Given the description of an element on the screen output the (x, y) to click on. 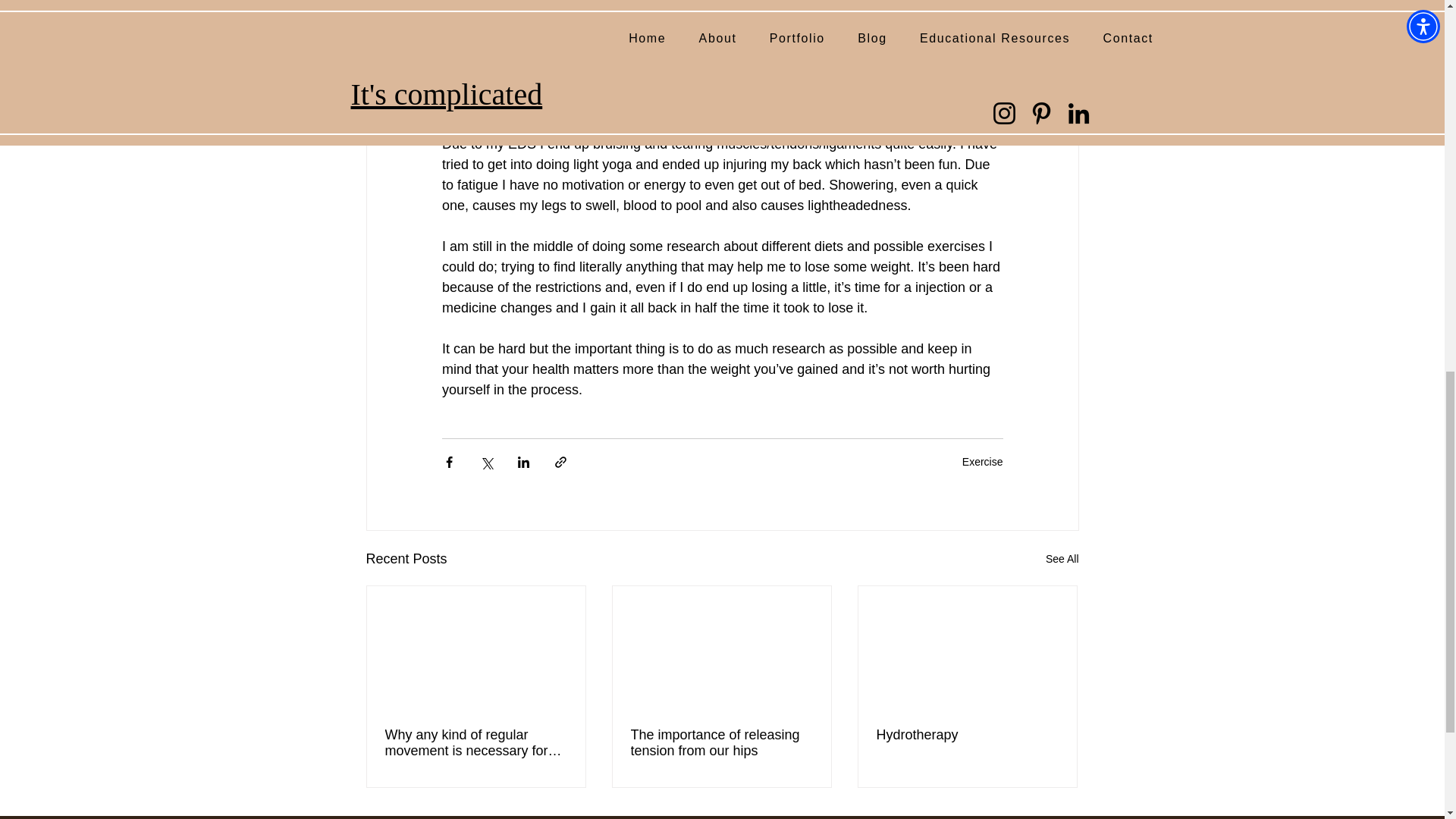
The importance of releasing tension from our hips (721, 743)
See All (1061, 558)
Hydrotherapy (967, 734)
Exercise (982, 460)
